Given the description of an element on the screen output the (x, y) to click on. 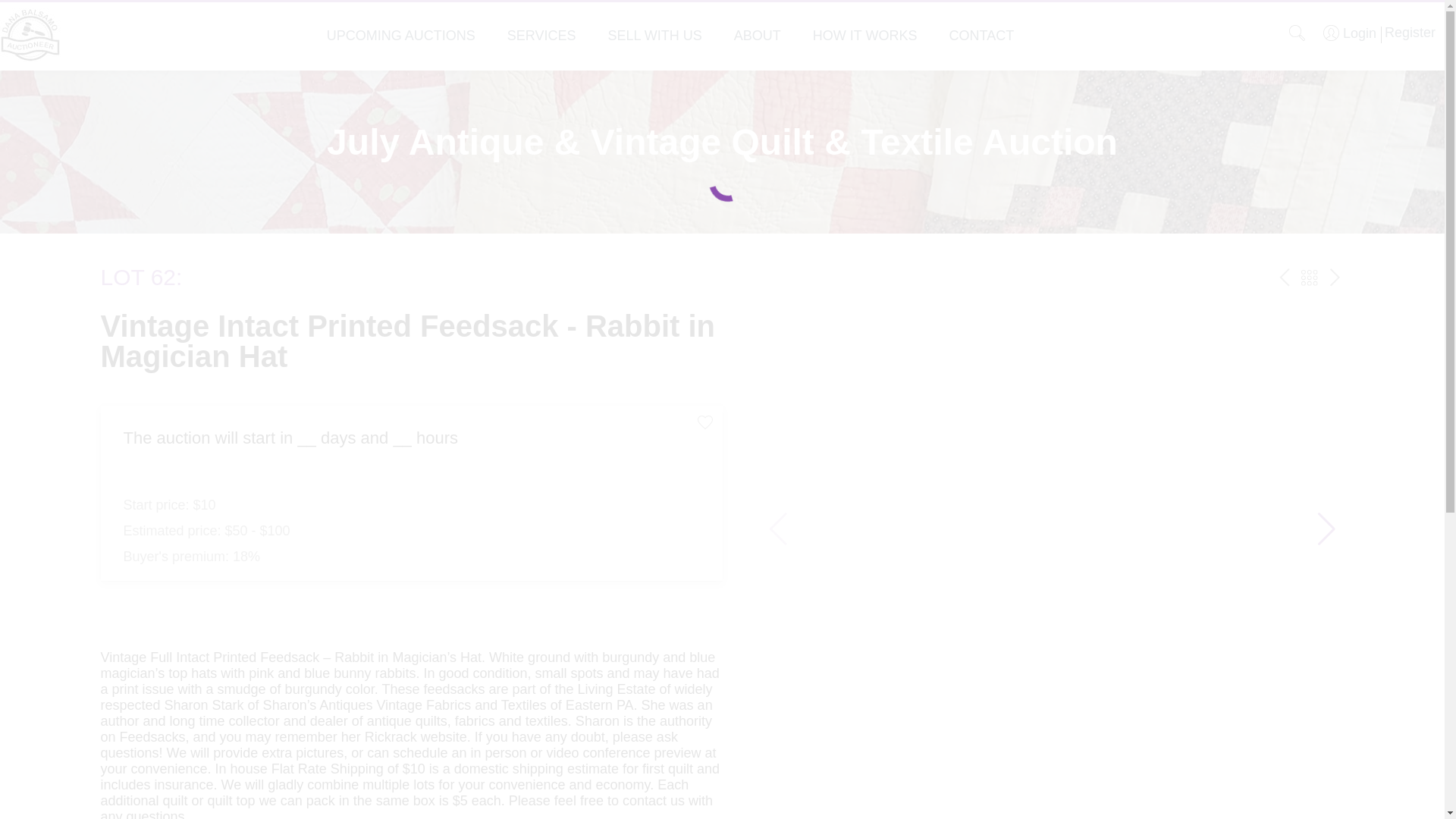
Register (1407, 32)
SELL WITH US (654, 35)
SERVICES (542, 35)
ABOUT (757, 35)
HOW IT WORKS (865, 35)
UPCOMING AUCTIONS (400, 35)
Login (1349, 32)
CONTACT (981, 35)
PREV (1284, 277)
